Given the description of an element on the screen output the (x, y) to click on. 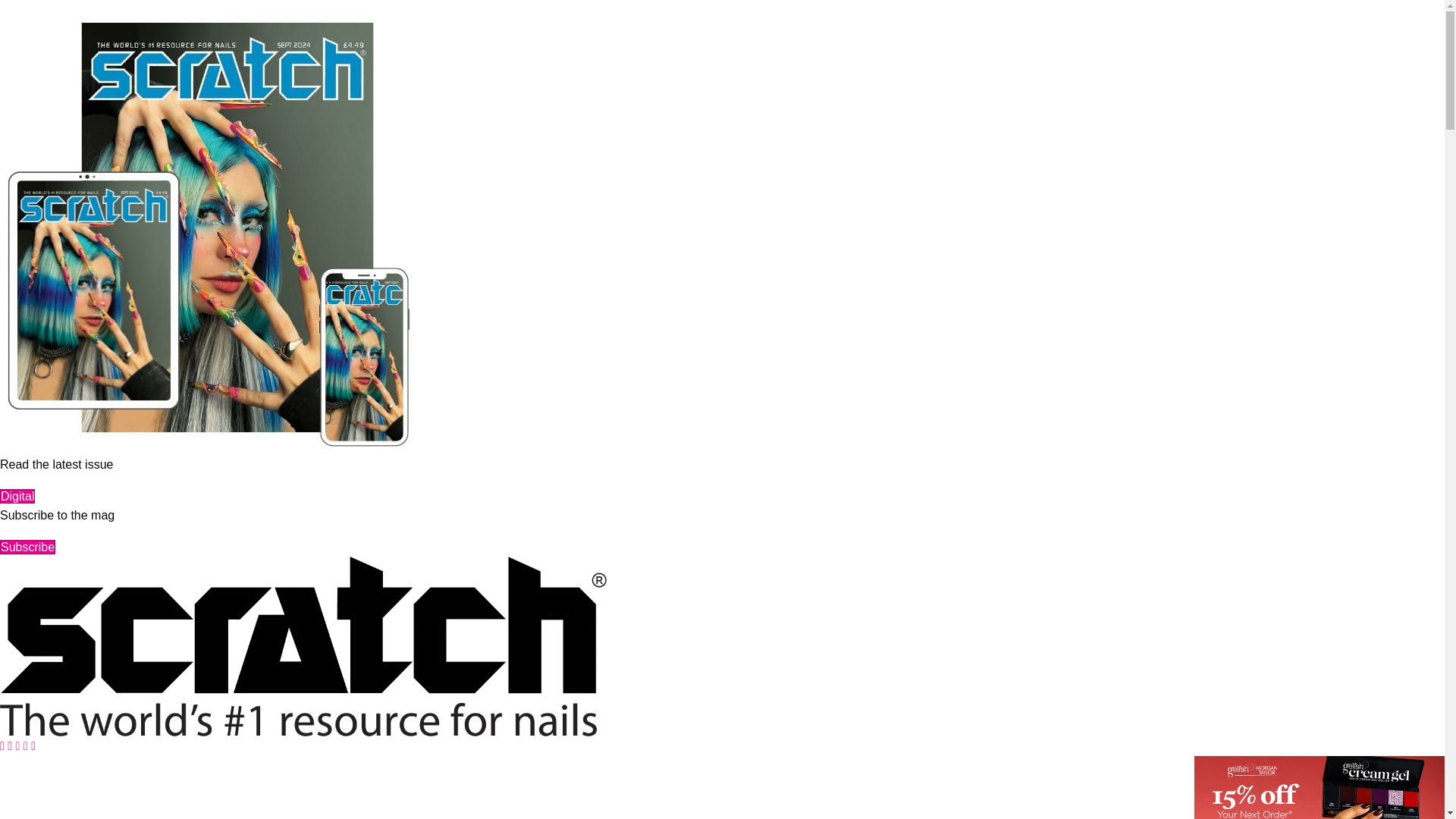
Subscribe (27, 546)
Digital (17, 495)
